Given the description of an element on the screen output the (x, y) to click on. 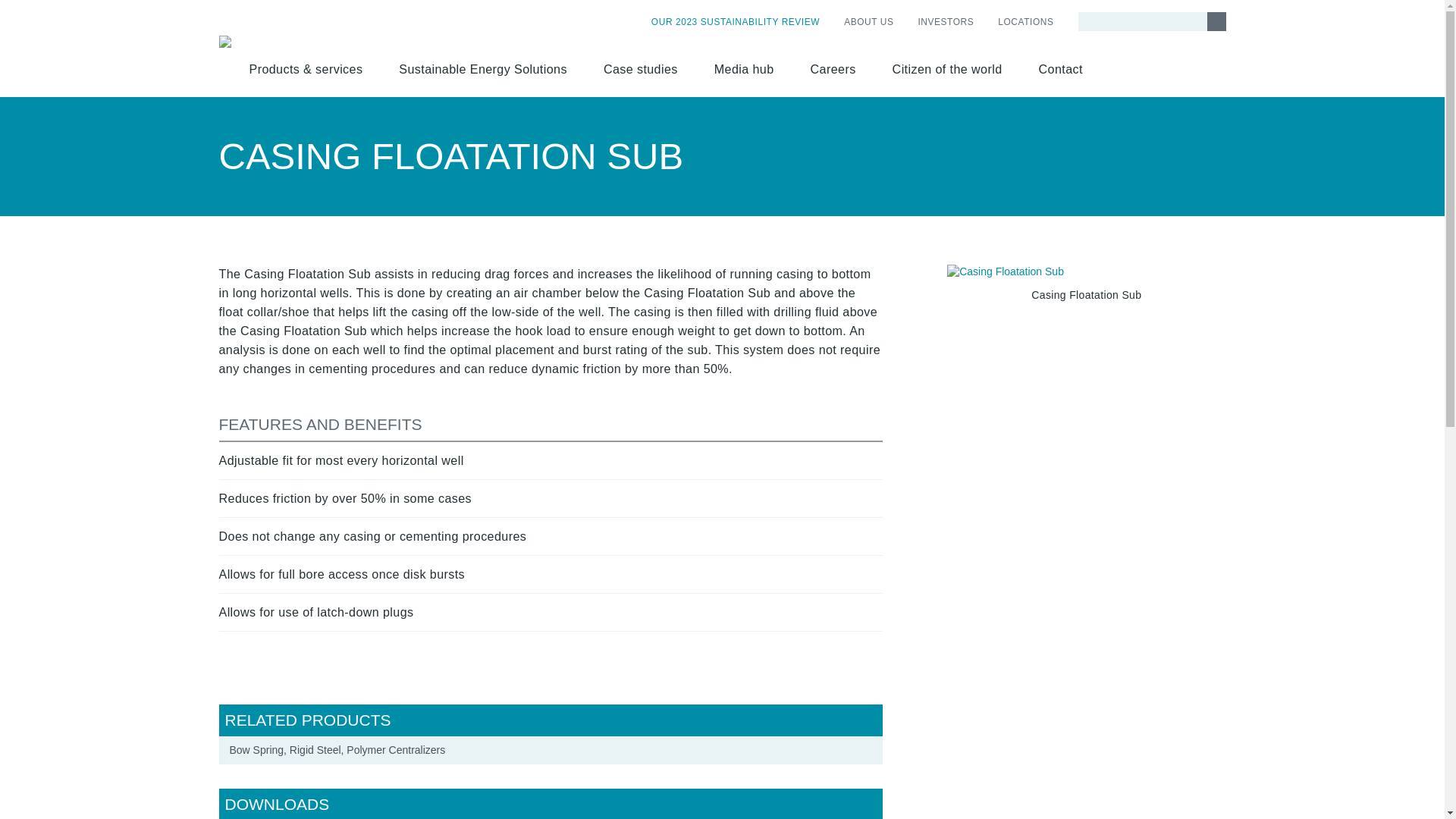
Media hub (743, 72)
Careers (833, 72)
Contact (1060, 72)
INVESTORS (945, 21)
Case studies (640, 72)
OUR 2023 SUSTAINABILITY REVIEW (735, 21)
Citizen of the world (947, 72)
Sustainable Energy Solutions (482, 72)
LOCATIONS (1018, 21)
ABOUT US (868, 21)
Click for full image (1086, 271)
